Given the description of an element on the screen output the (x, y) to click on. 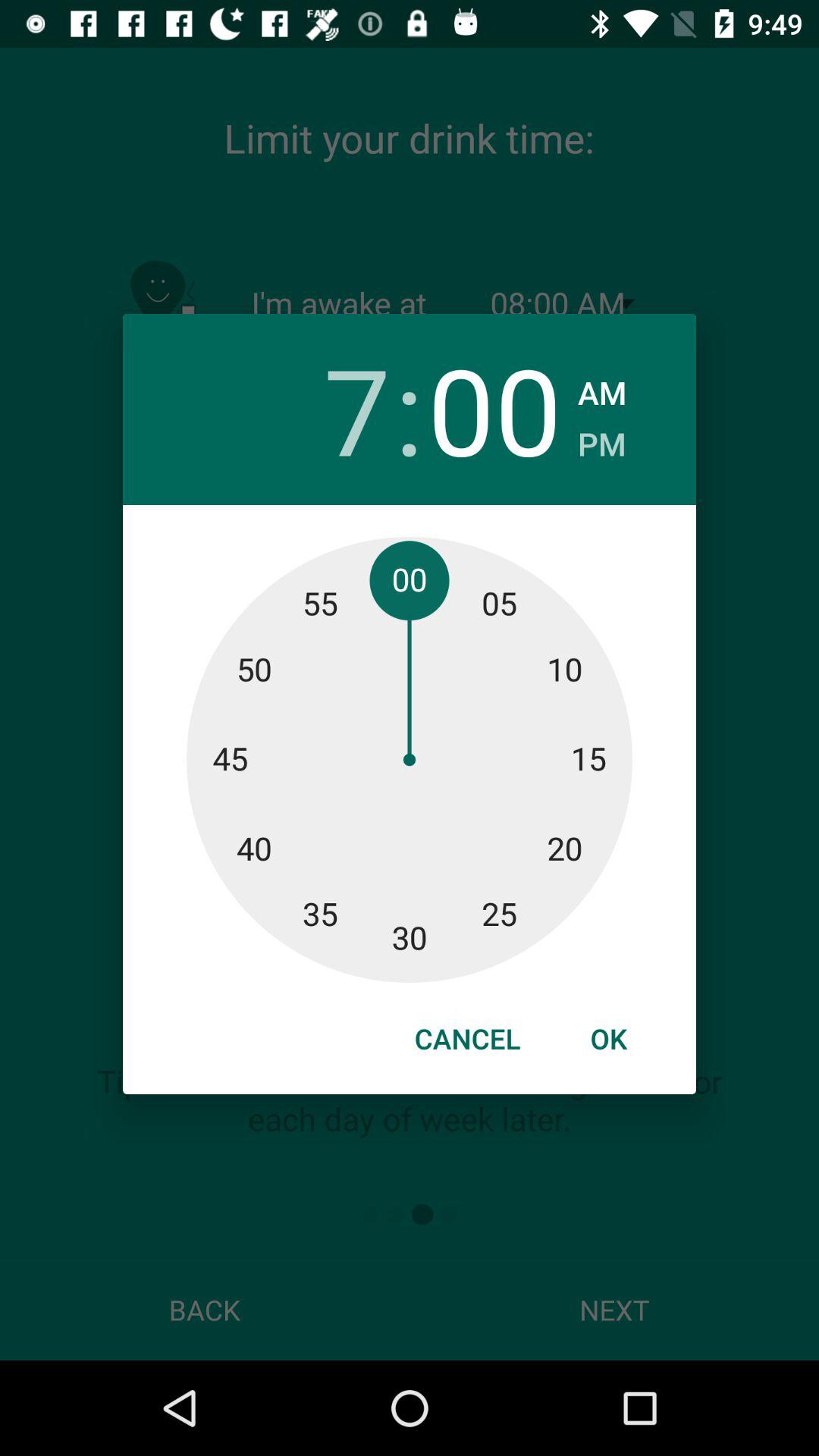
swipe to the ok (608, 1038)
